Given the description of an element on the screen output the (x, y) to click on. 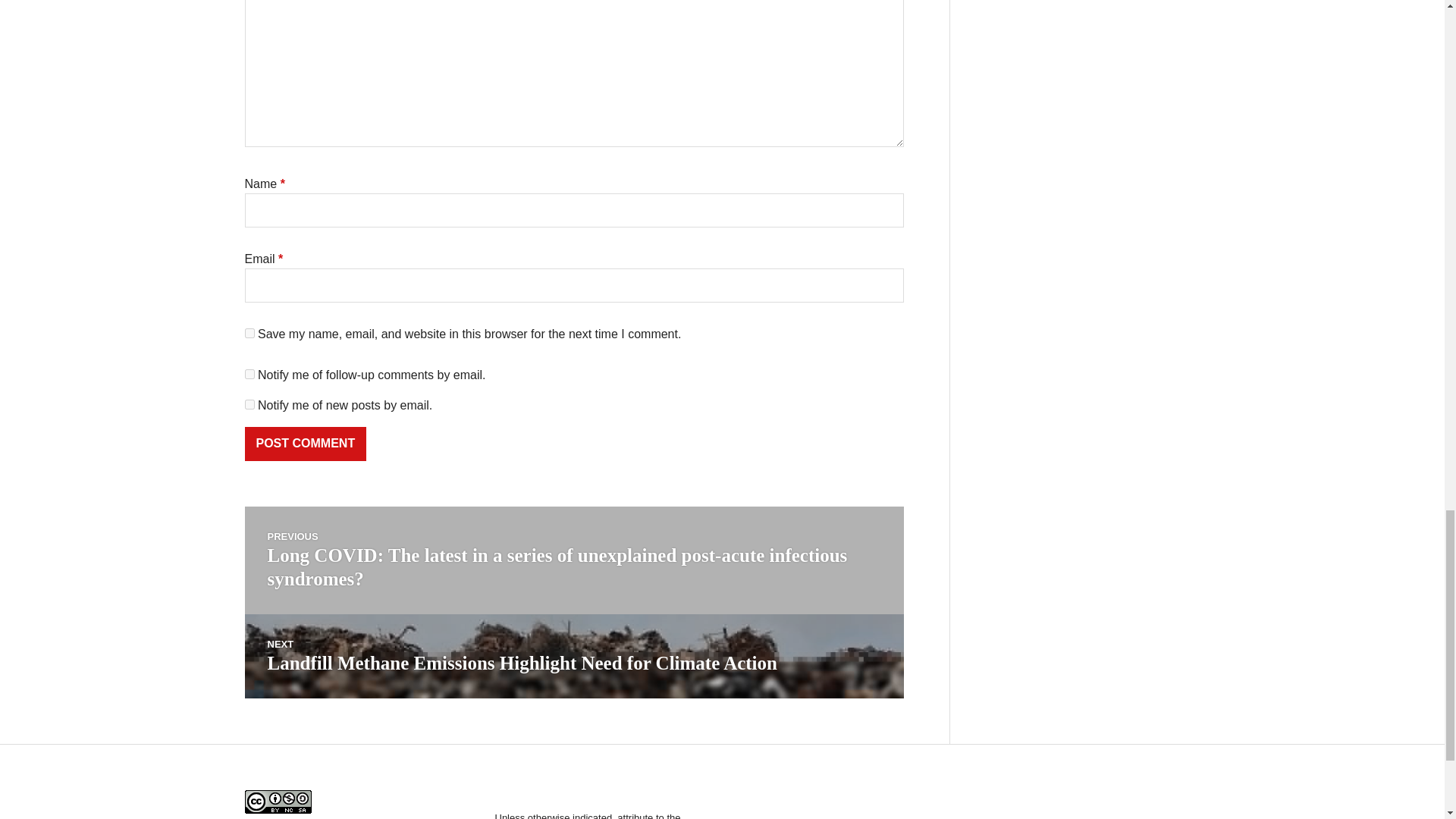
Post Comment (305, 443)
subscribe (248, 404)
yes (248, 333)
subscribe (248, 374)
